Given the description of an element on the screen output the (x, y) to click on. 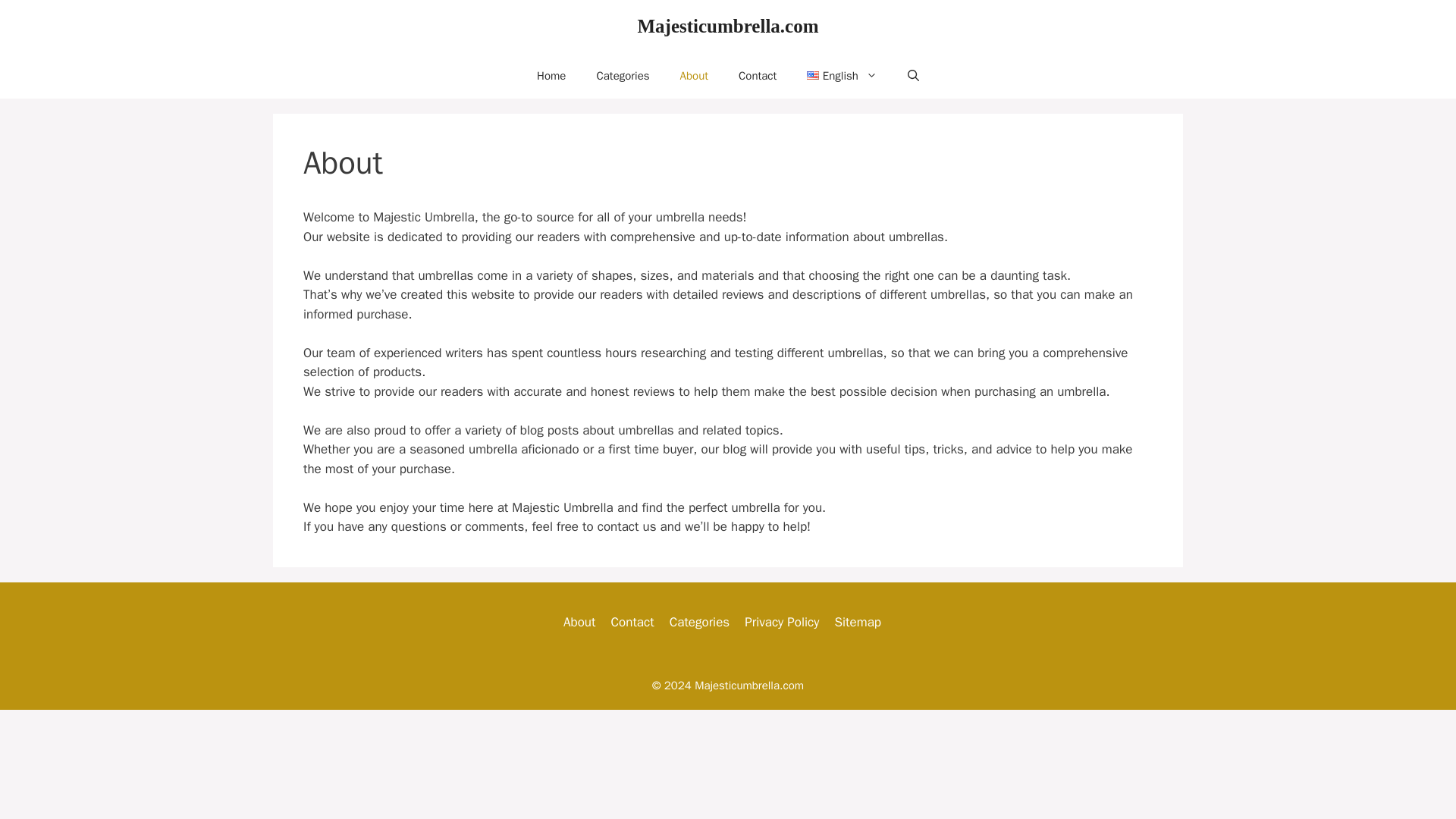
Home (550, 75)
Sitemap (857, 621)
About (579, 621)
Privacy Policy (781, 621)
Categories (699, 621)
Contact (757, 75)
About (694, 75)
Categories (621, 75)
English (842, 75)
Contact (632, 621)
